Given the description of an element on the screen output the (x, y) to click on. 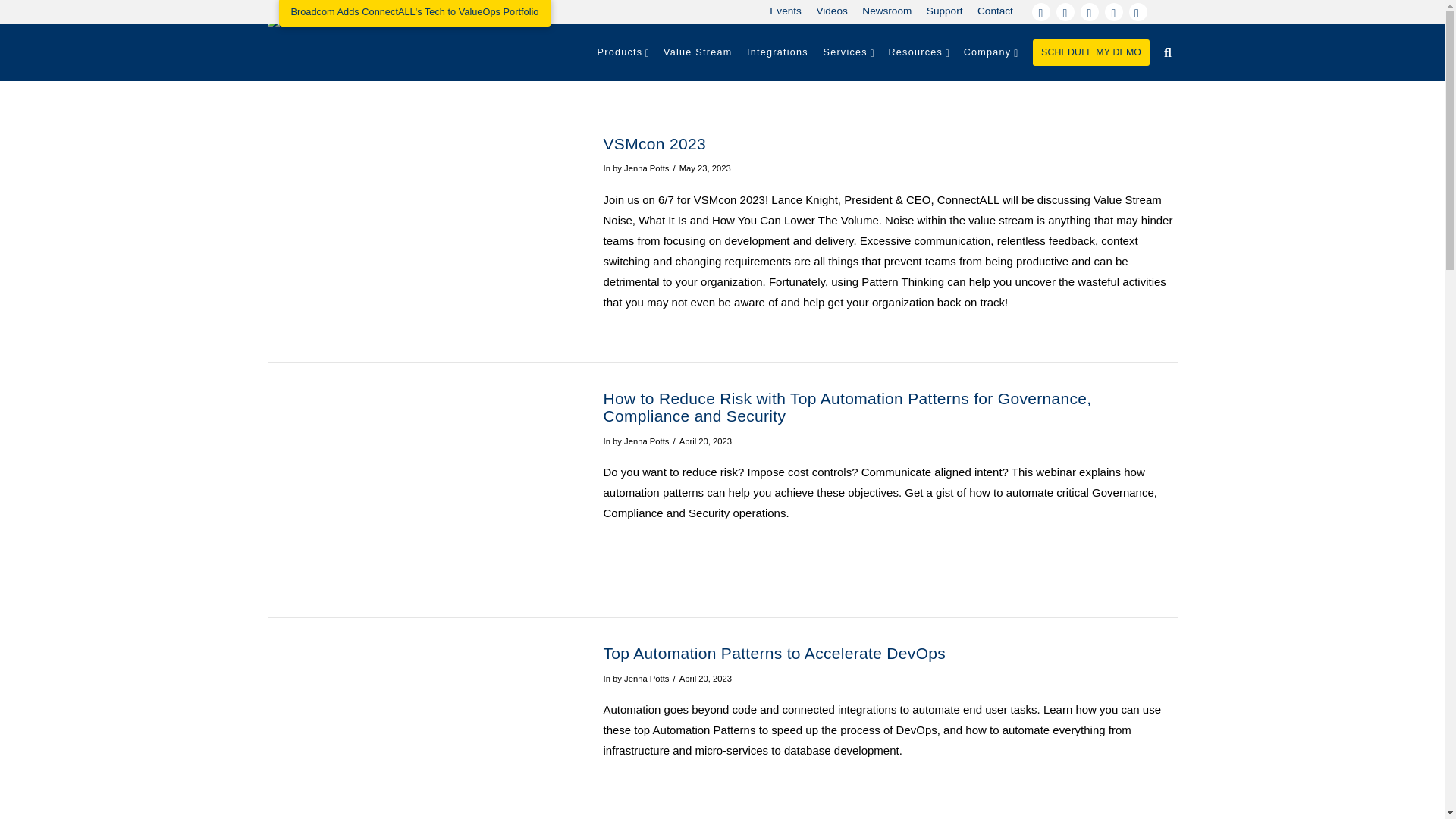
Broadcom Adds ConnectALL's Tech to ValueOps Portfolio (415, 13)
Resources (917, 52)
Permalink to: "VSMcon 2023" (655, 143)
Videos (836, 12)
Company (989, 52)
Permalink to: "Top Automation Patterns to Accelerate DevOps" (775, 652)
Contact (1000, 12)
Newsroom (892, 12)
Events (790, 12)
Services (847, 52)
SCHEDULE MY DEMO (1091, 52)
Products (622, 52)
Value Stream (697, 52)
Integrations (777, 52)
